Given the description of an element on the screen output the (x, y) to click on. 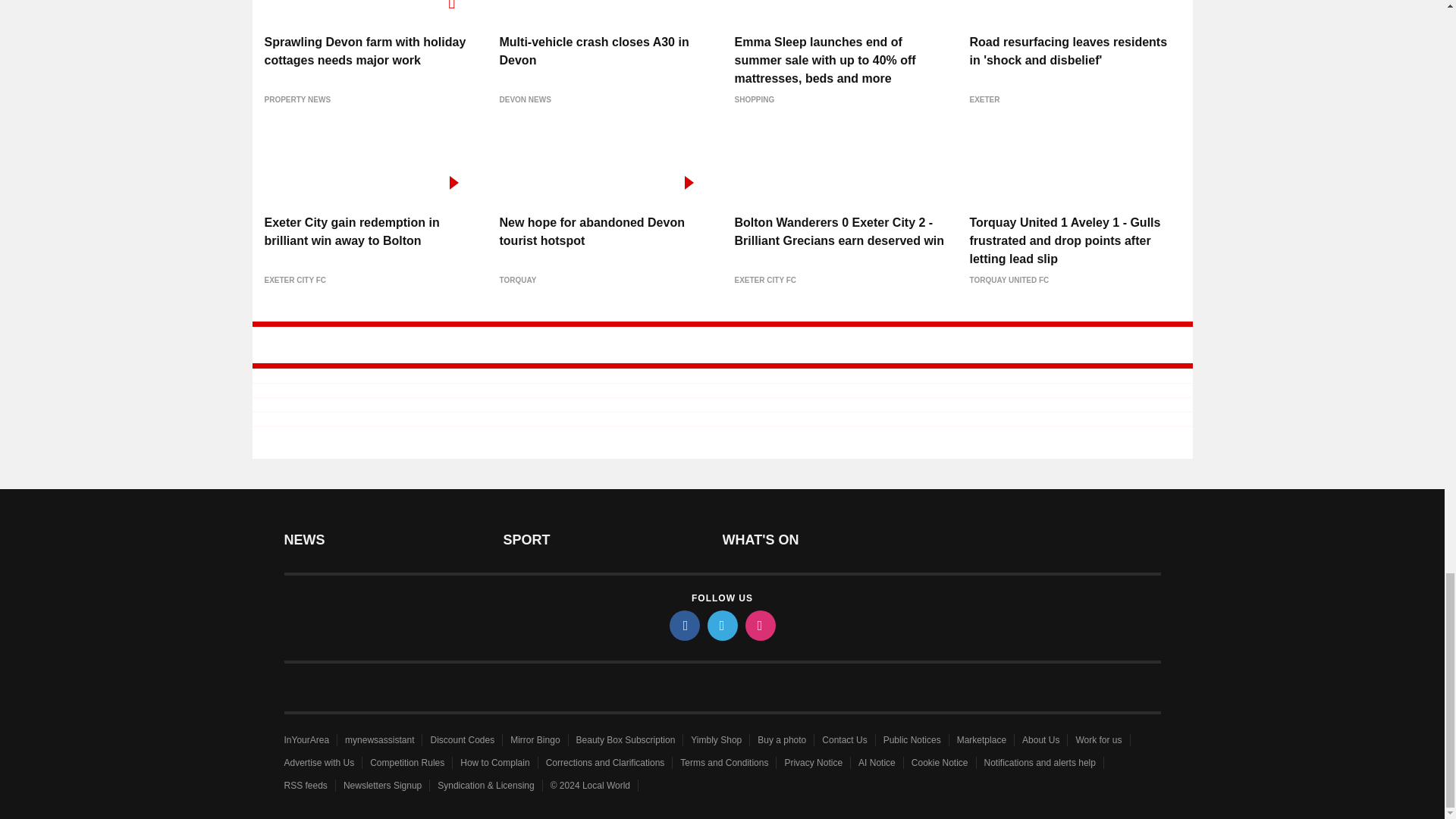
instagram (759, 625)
twitter (721, 625)
facebook (683, 625)
